Given the description of an element on the screen output the (x, y) to click on. 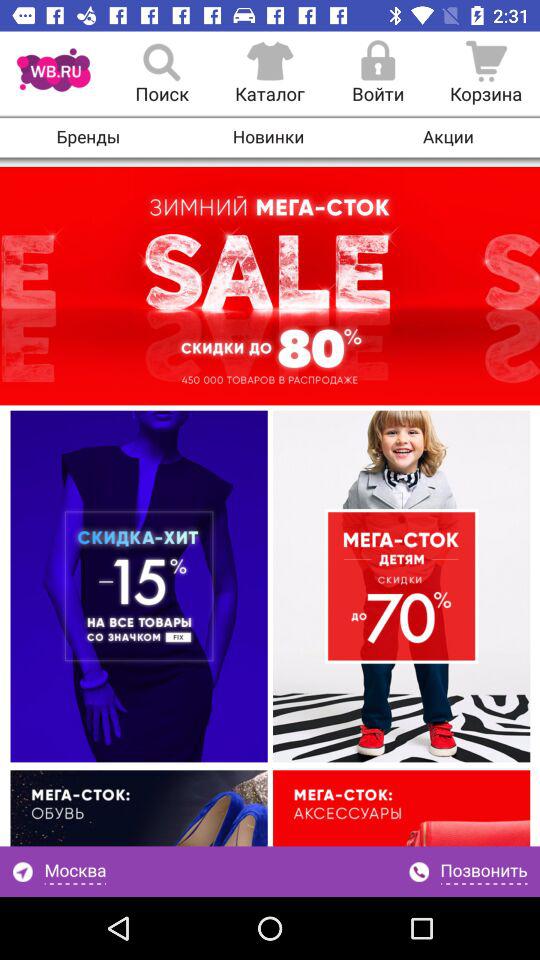
click on the search icon which is right to the wbru (162, 73)
